Given the description of an element on the screen output the (x, y) to click on. 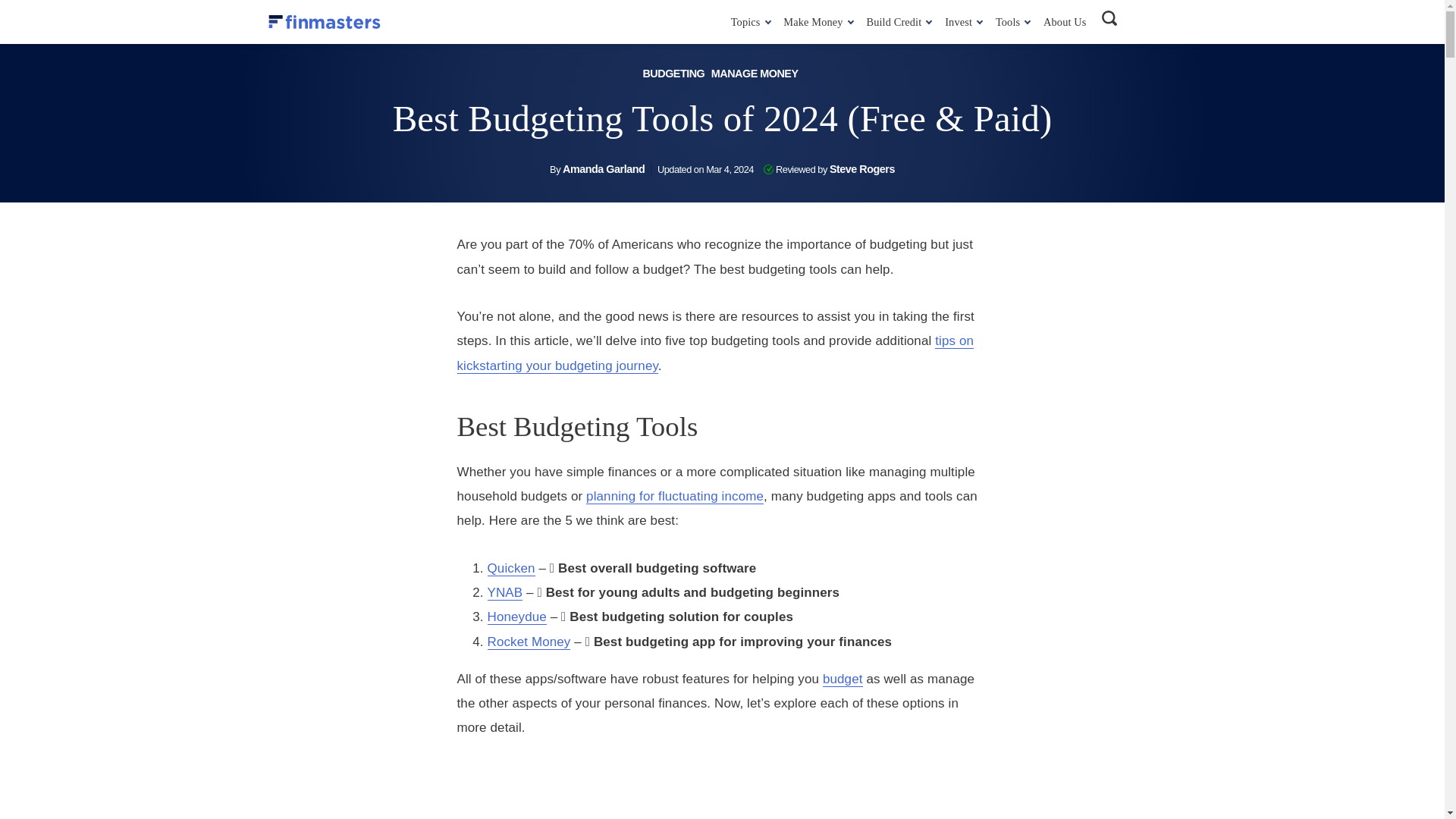
Build Credit (896, 21)
Make Money (815, 21)
Topics (747, 21)
Invest (960, 21)
